Given the description of an element on the screen output the (x, y) to click on. 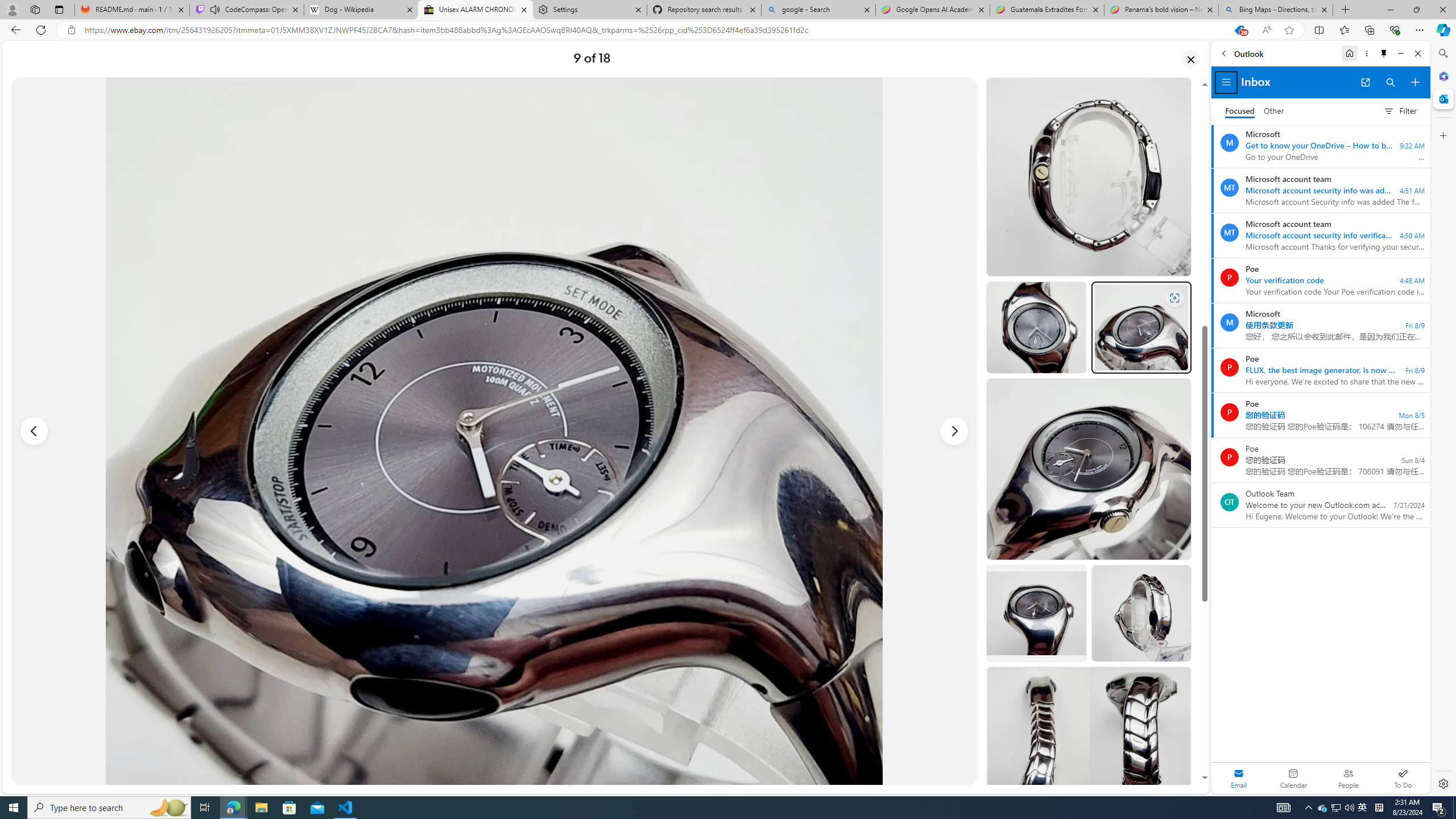
New Tab (1346, 9)
Collections (1369, 29)
Unpin side pane (1383, 53)
Previous image - Item images thumbnails (34, 430)
Read aloud this page (Ctrl+Shift+U) (1266, 29)
Calendar. Date today is 22 (1293, 777)
Settings (1442, 783)
App bar (728, 29)
Minimize (1401, 53)
Google Opens AI Academy for Startups - Nearshore Americas (932, 9)
Filter (1399, 110)
